Given the description of an element on the screen output the (x, y) to click on. 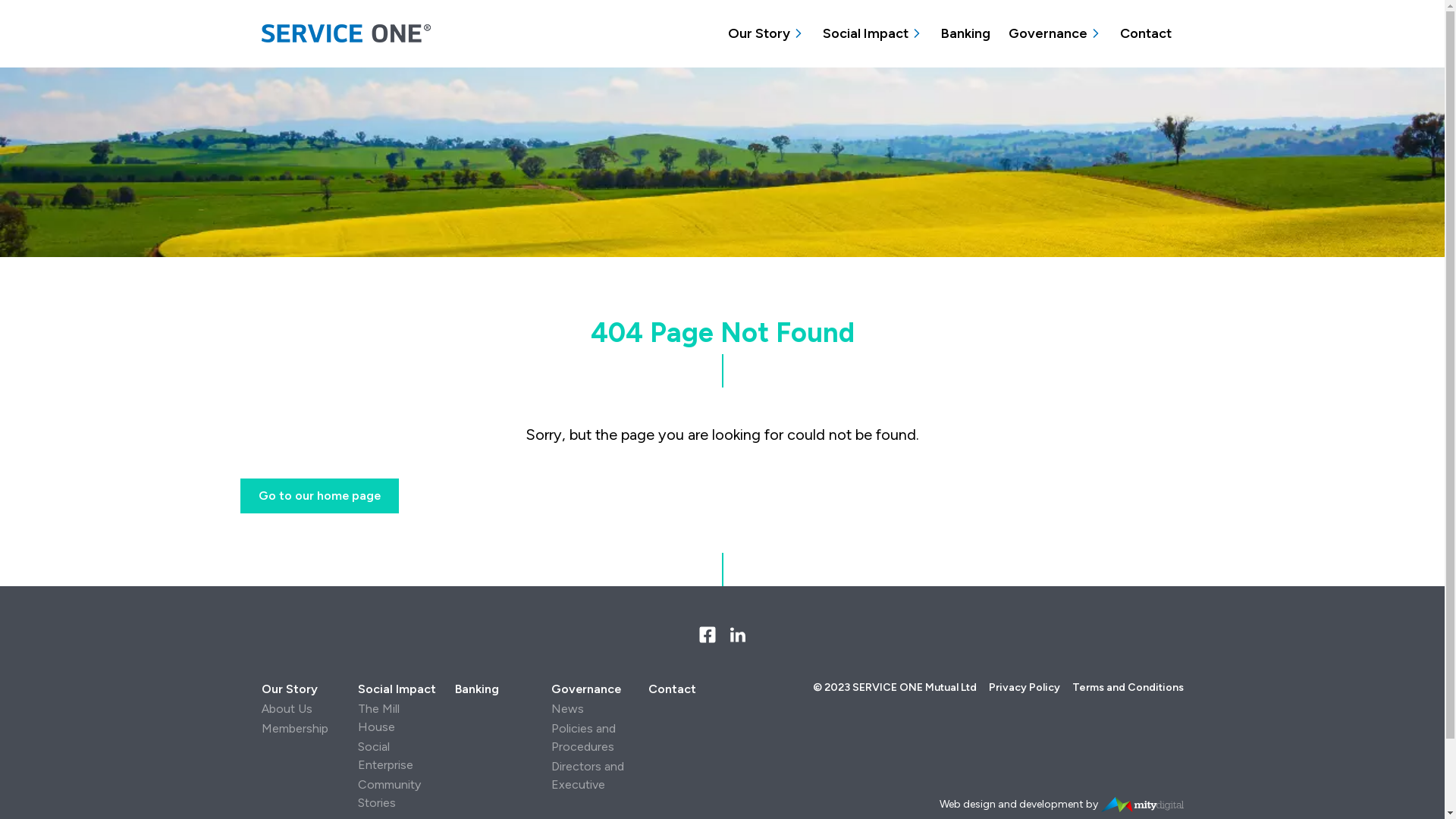
Governance Element type: text (590, 689)
Community Stories Element type: text (388, 793)
Membership Element type: text (293, 728)
Banking Element type: text (964, 33)
Find us on Facebook Element type: hover (706, 634)
Social Enterprise Element type: text (385, 755)
Follow us on LinkedIn Element type: hover (737, 634)
Contact Element type: text (1144, 33)
Go to our home page Element type: text (318, 495)
Social Impact Element type: text (864, 33)
About Us Element type: text (285, 708)
The Mill House Element type: text (378, 717)
Our Story Element type: text (299, 689)
Directors and Executive Element type: text (587, 775)
Our Story Element type: text (759, 33)
Contact Element type: text (687, 689)
Banking Element type: text (494, 689)
Policies and Procedures Element type: text (583, 737)
Terms and Conditions Element type: text (1127, 686)
News Element type: text (567, 708)
Privacy Policy Element type: text (1024, 686)
Social Impact Element type: text (396, 689)
Governance Element type: text (1047, 33)
Web design and development by Element type: text (1061, 804)
